Given the description of an element on the screen output the (x, y) to click on. 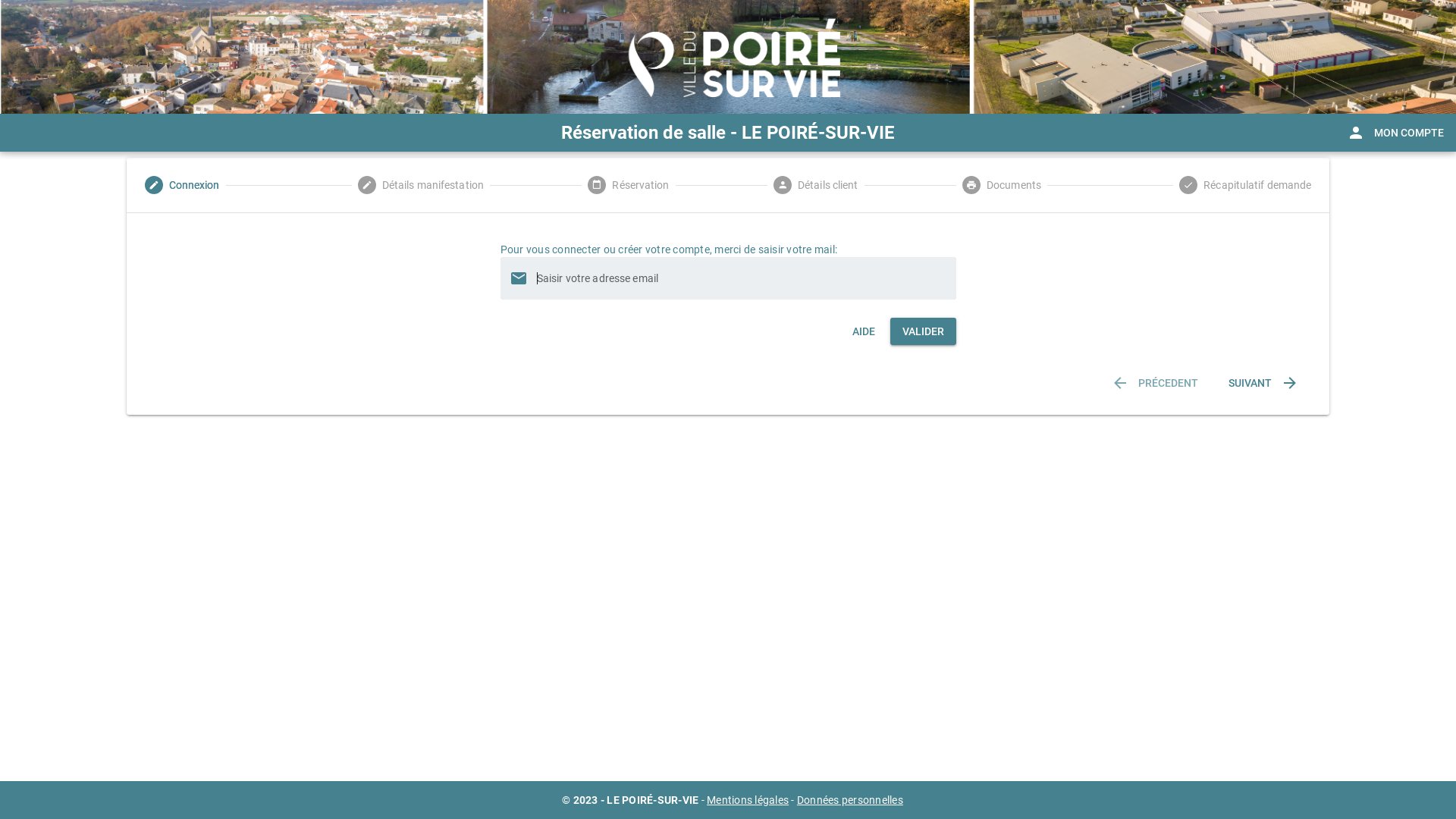
AIDE Element type: text (863, 331)
VALIDER Element type: text (923, 331)
SUIVANT Element type: text (1263, 382)
